Given the description of an element on the screen output the (x, y) to click on. 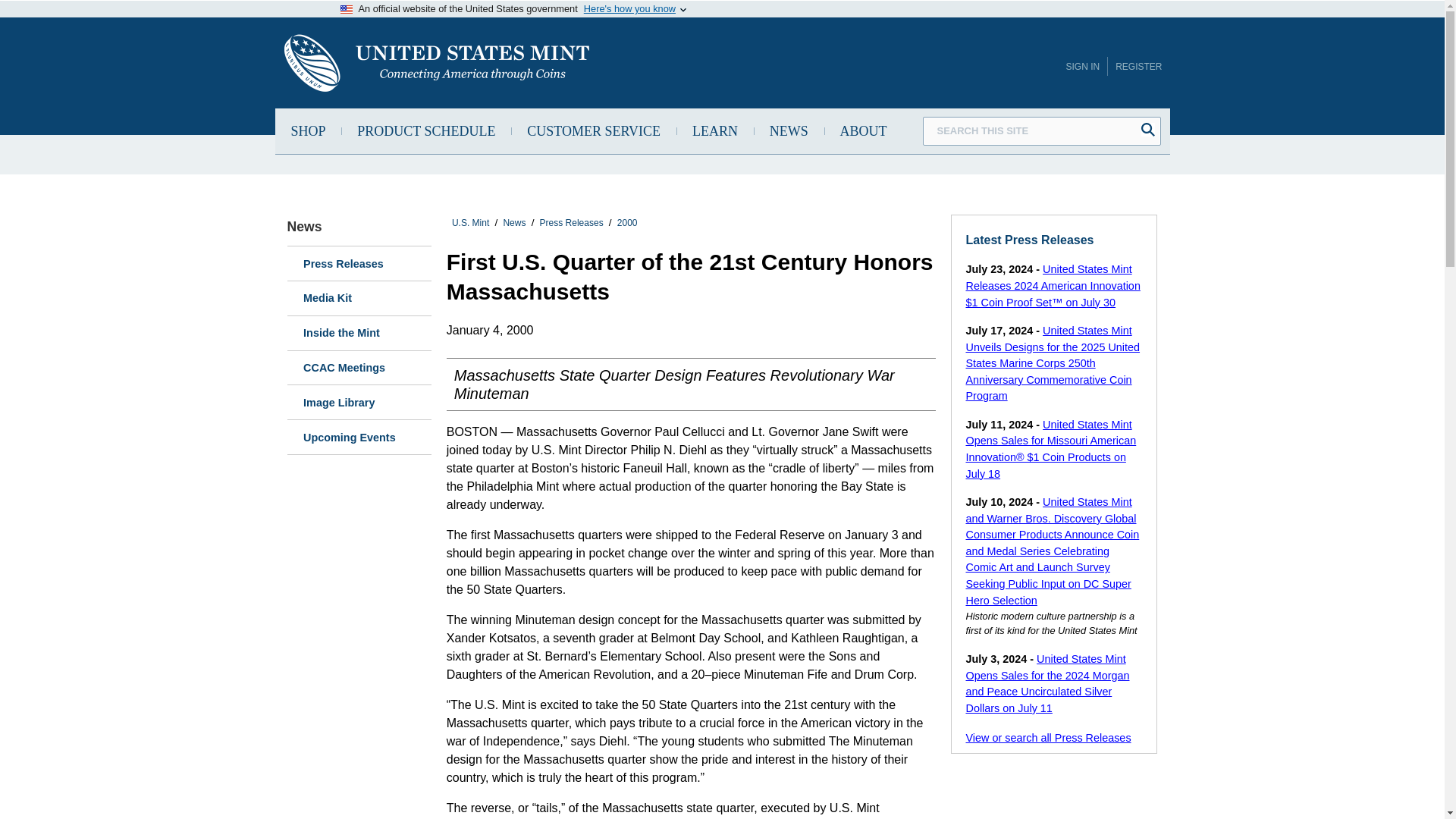
Shop (307, 130)
United States Mint (435, 62)
Here's how you know (629, 9)
SHOP (307, 130)
Sign In (1082, 66)
Create an Account (1138, 66)
REGISTER (1138, 66)
SIGN IN (1082, 66)
